Given the description of an element on the screen output the (x, y) to click on. 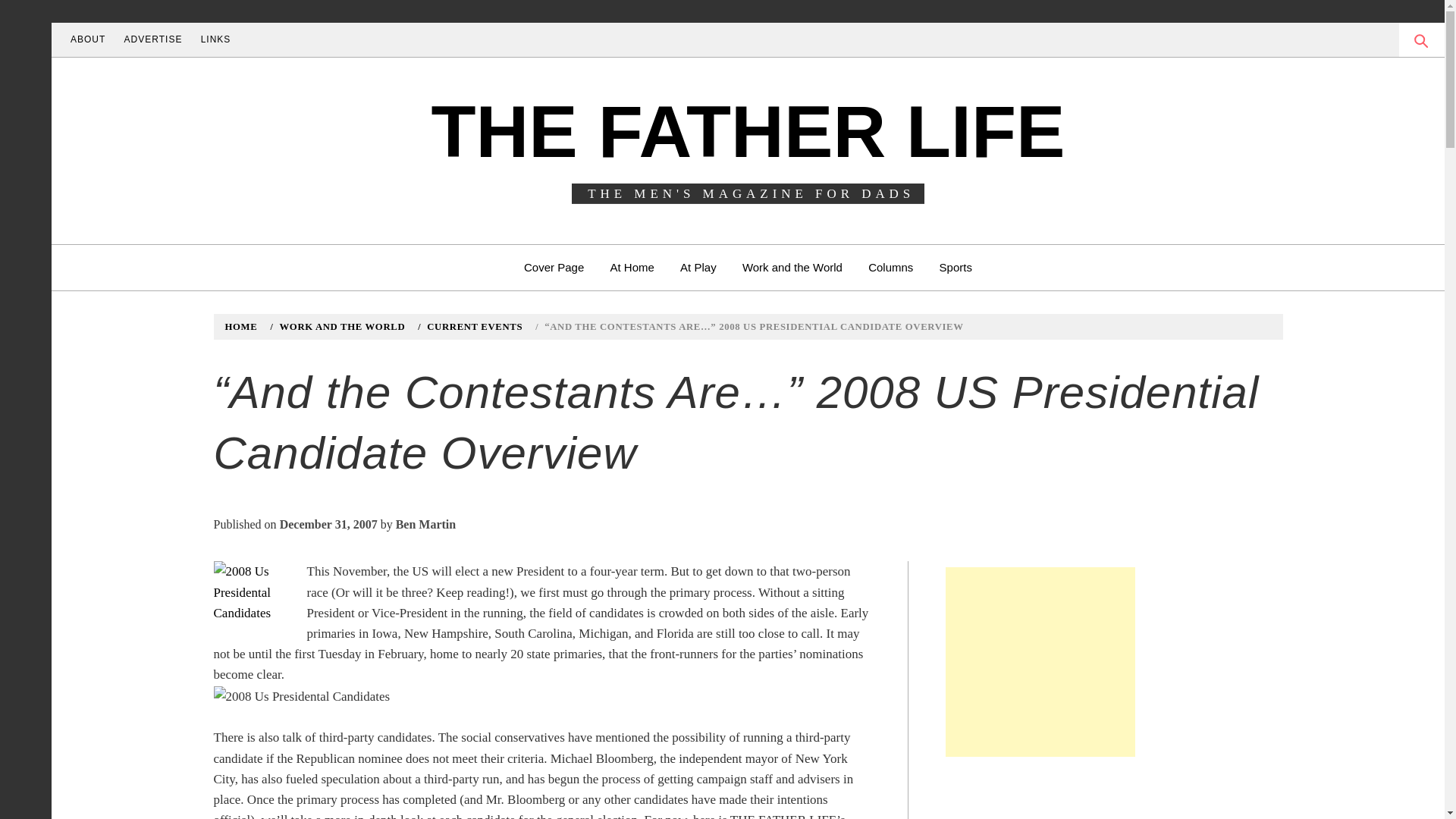
Ben Martin (426, 523)
THE FATHER LIFE (747, 130)
Columns (890, 267)
Sports (956, 267)
LINKS (215, 39)
HOME (243, 326)
ABOUT (87, 39)
Work and the World (791, 267)
At Home (631, 267)
At Play (698, 267)
Cover Page (553, 267)
ADVERTISE (153, 39)
WORK AND THE WORLD (339, 326)
December 31, 2007 (328, 523)
